Given the description of an element on the screen output the (x, y) to click on. 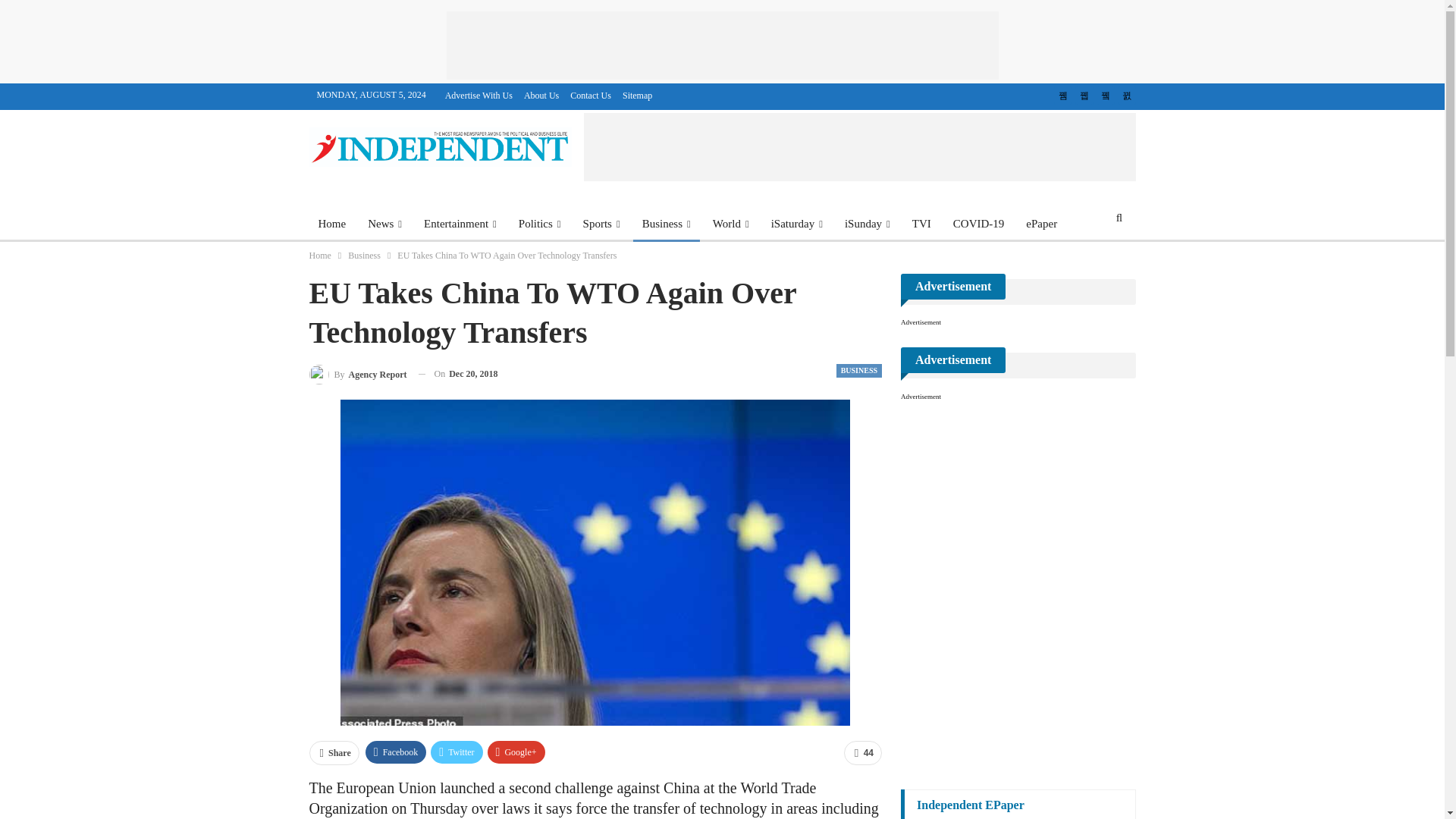
Entertainment (459, 223)
About Us (541, 95)
Politics (539, 223)
News (384, 223)
Sitemap (637, 95)
Contact Us (590, 95)
Advertise With Us (478, 95)
Home (331, 223)
